Given the description of an element on the screen output the (x, y) to click on. 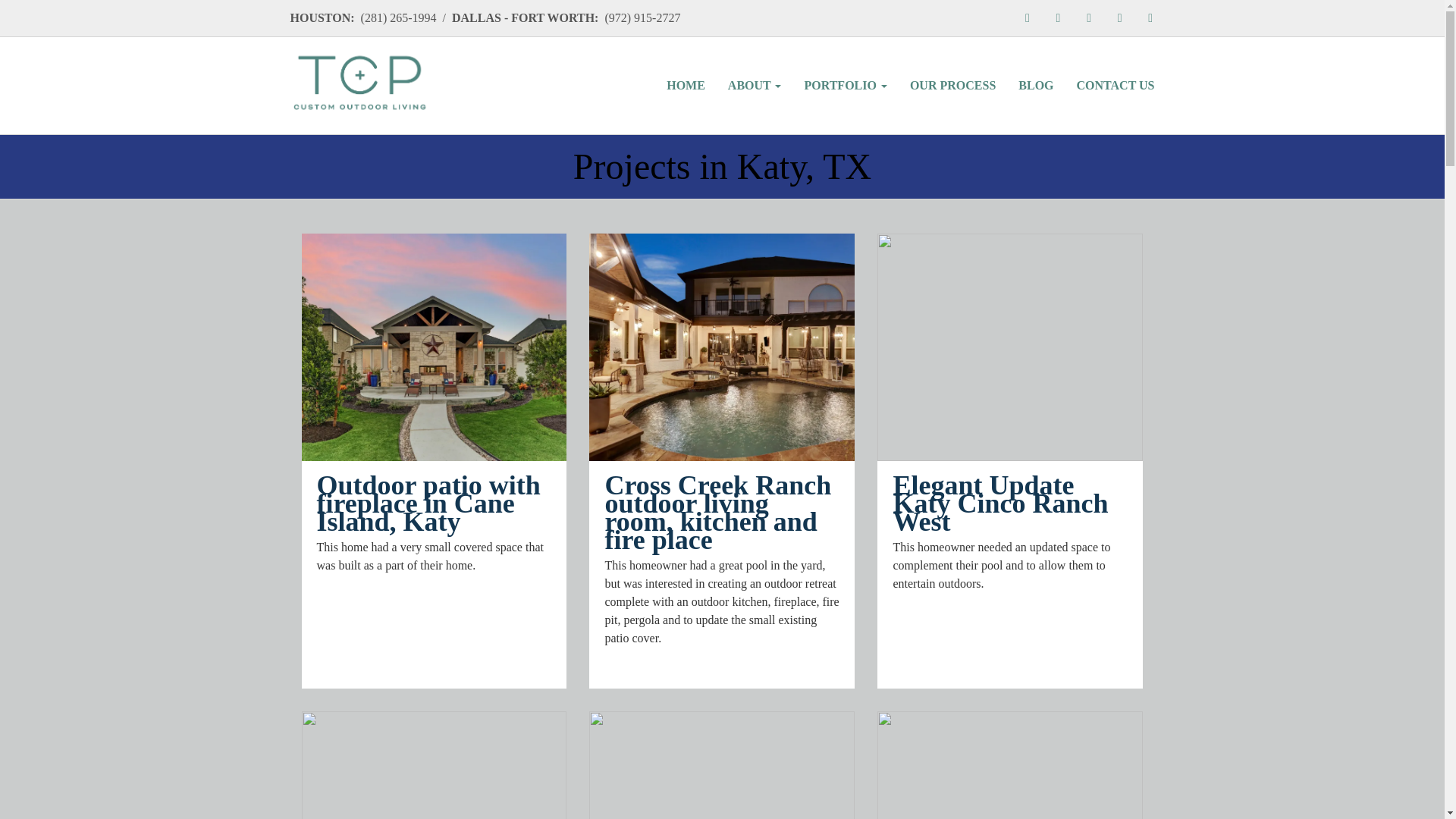
Portfolio (845, 85)
CONTACT US (1115, 85)
PORTFOLIO (845, 85)
OUR PROCESS (952, 85)
